Given the description of an element on the screen output the (x, y) to click on. 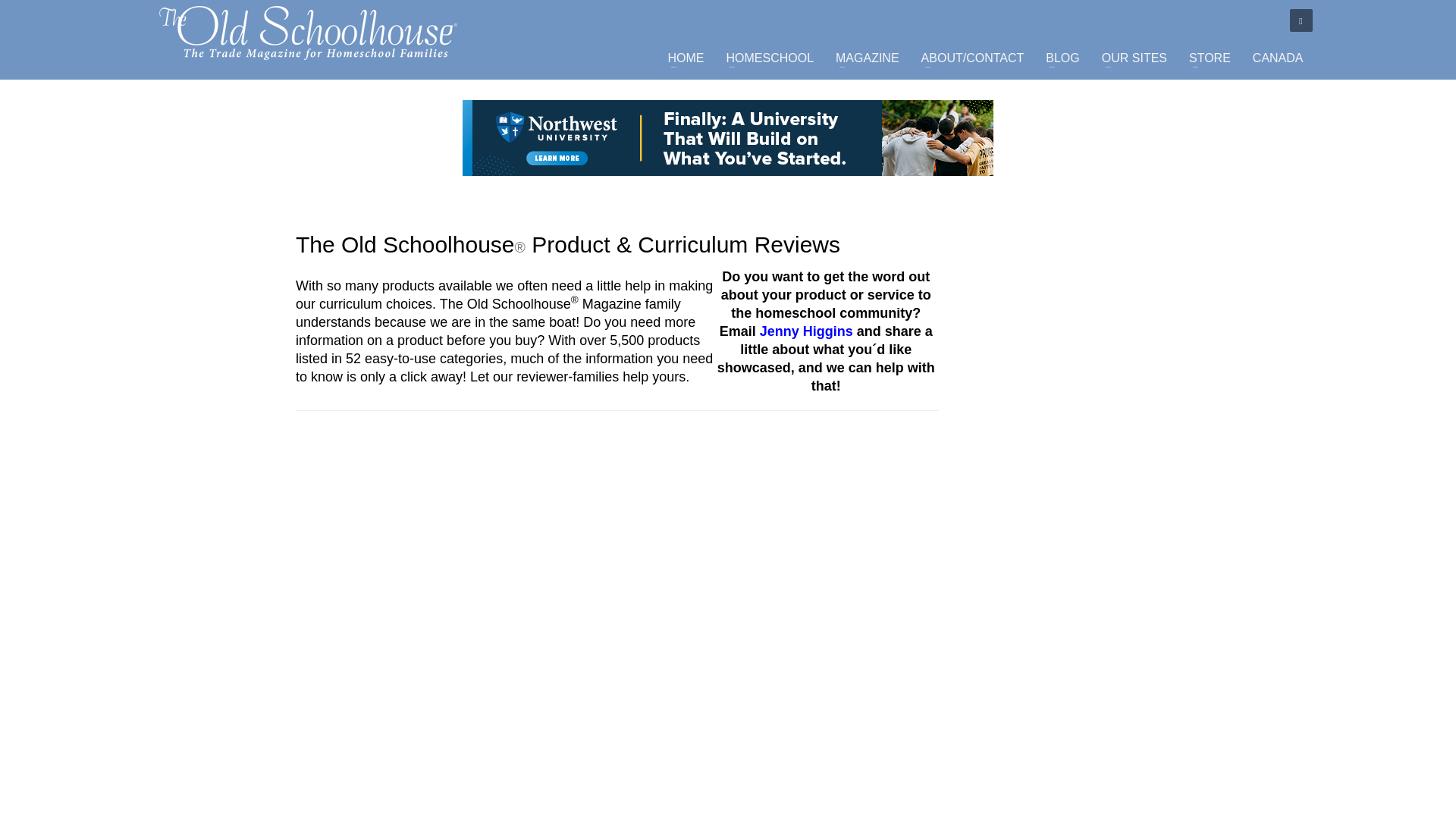
HOMESCHOOL (769, 57)
HOME (685, 57)
The Family Education Magazine (307, 32)
MAGAZINE (867, 57)
